Given the description of an element on the screen output the (x, y) to click on. 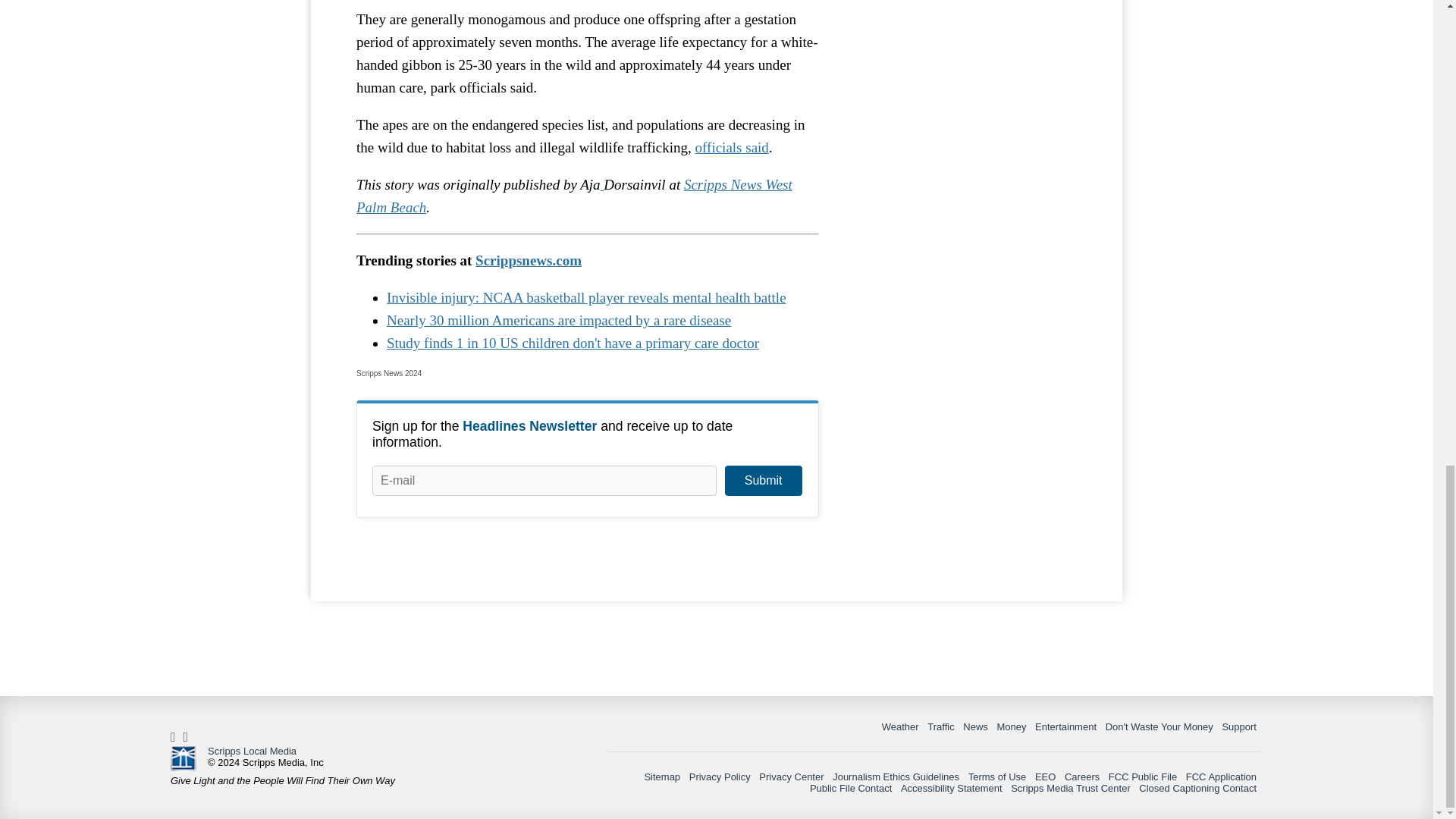
Submit (763, 481)
